Given the description of an element on the screen output the (x, y) to click on. 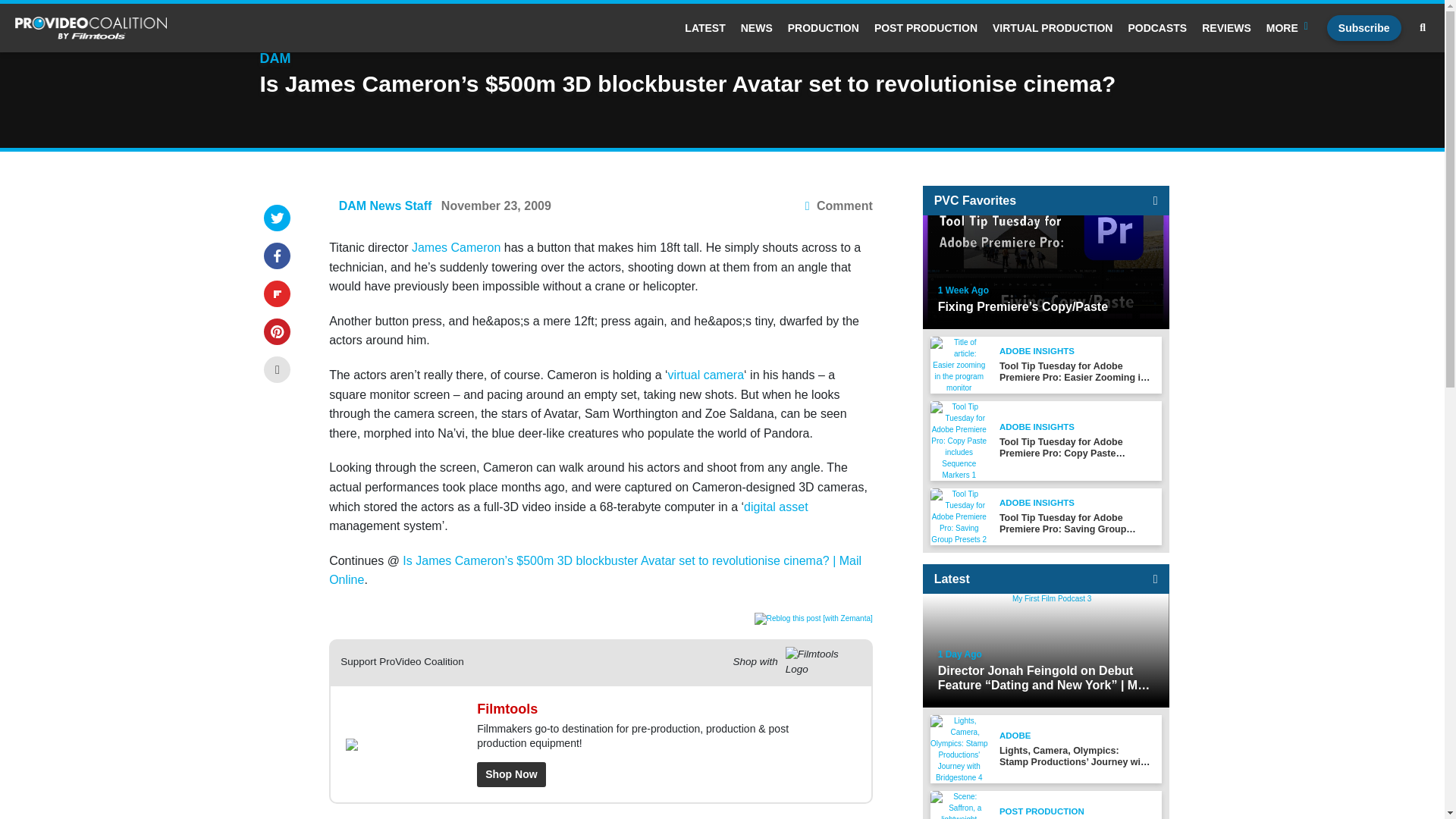
PRODUCTION (823, 27)
POST PRODUCTION (925, 27)
VIRTUAL PRODUCTION (1052, 27)
Subscribe (1363, 27)
Subscribe (1363, 27)
Post Production (925, 27)
LATEST (704, 27)
Search (1422, 27)
virtual camera (706, 374)
PODCASTS (1156, 27)
More   (1288, 27)
Shop Now (510, 774)
Latest (704, 27)
Production (823, 27)
DAM News Staff (385, 205)
